Given the description of an element on the screen output the (x, y) to click on. 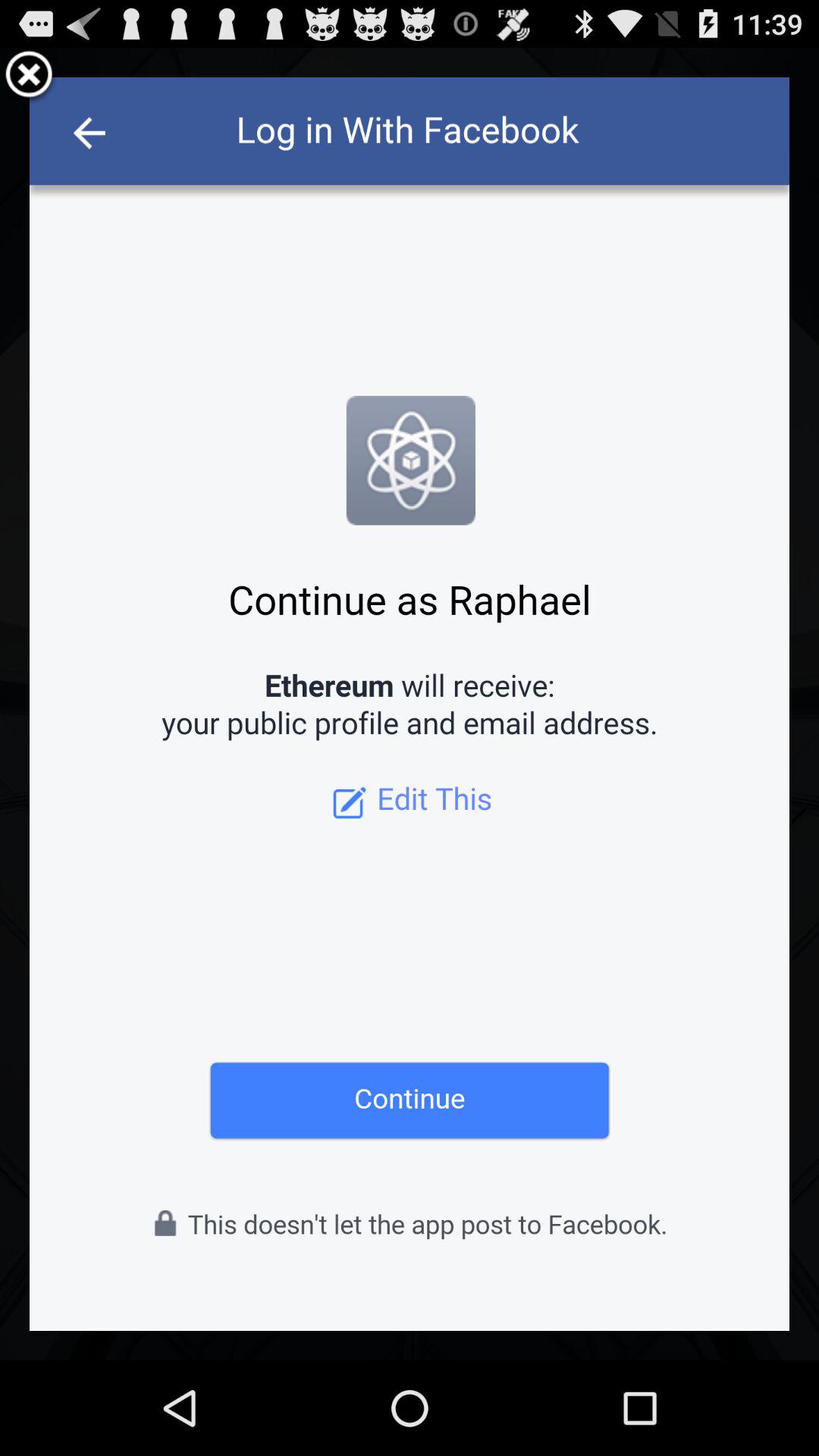
exit (29, 76)
